Given the description of an element on the screen output the (x, y) to click on. 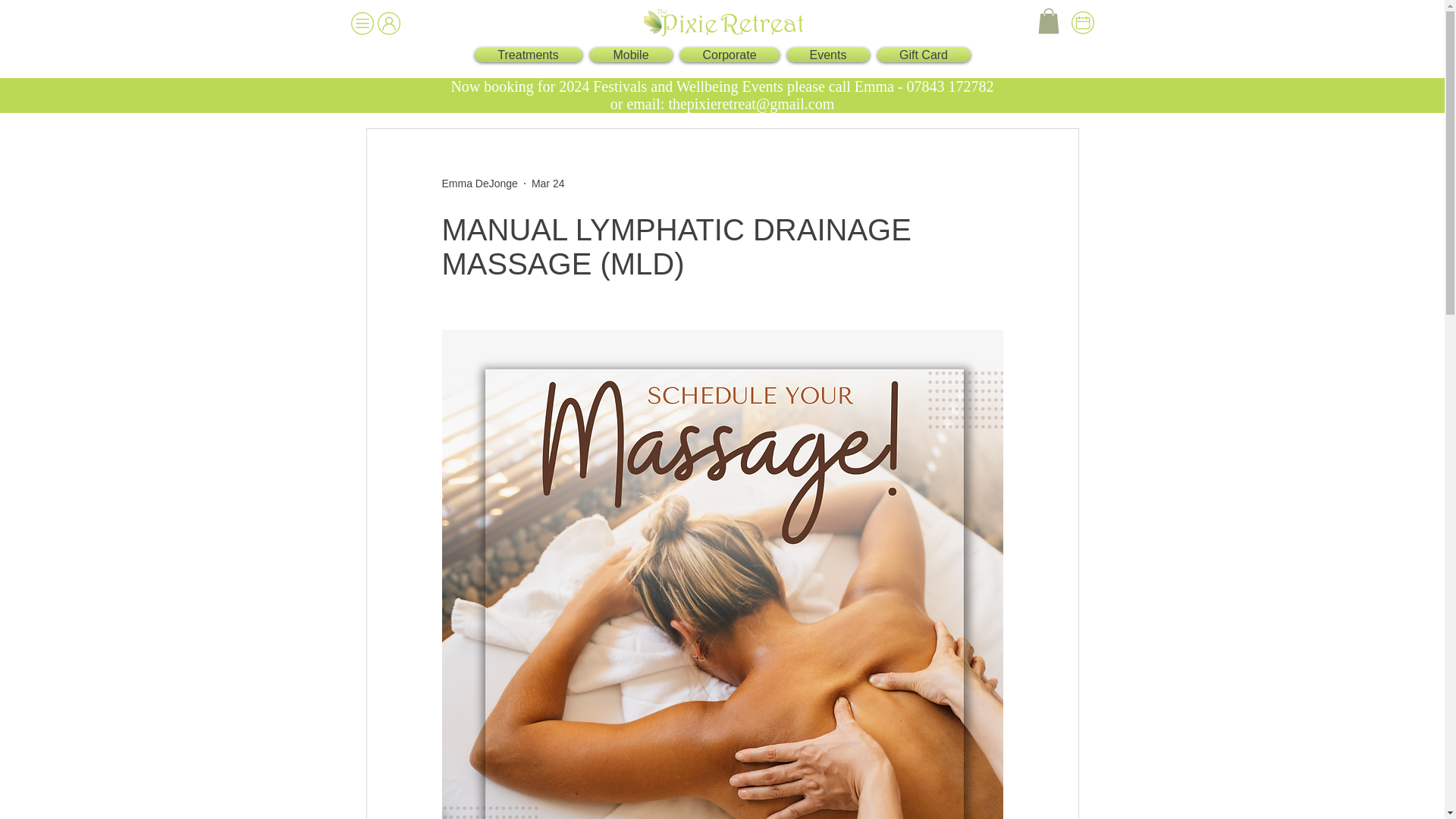
Emma DeJonge (478, 183)
Emma DeJonge (478, 183)
Corporate (730, 54)
Mobile (630, 54)
Mar 24 (547, 183)
Treatments (530, 54)
Gift Card (922, 54)
Events (827, 54)
